Given the description of an element on the screen output the (x, y) to click on. 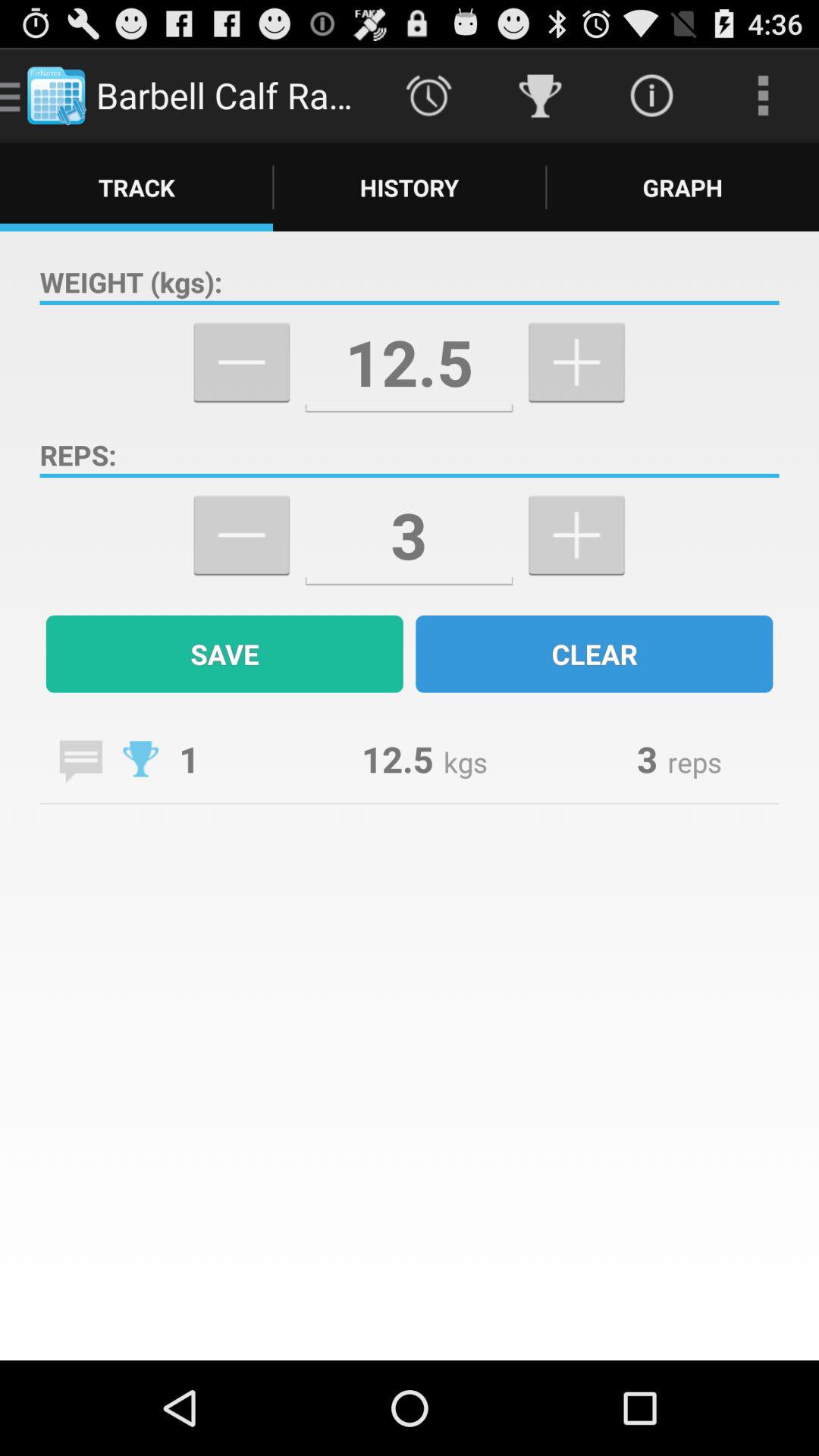
open chat (80, 761)
